Given the description of an element on the screen output the (x, y) to click on. 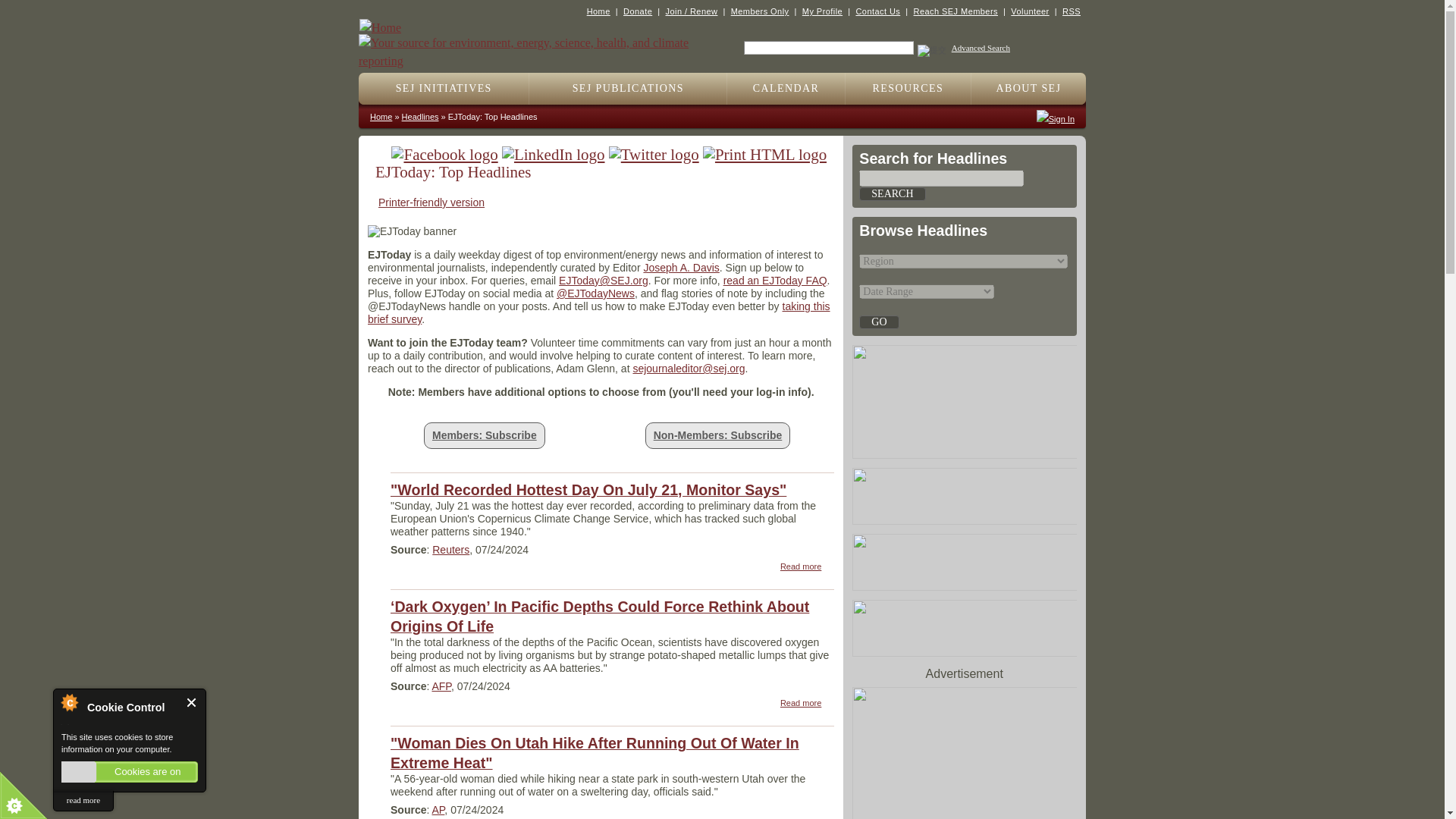
Cookies are on (129, 772)
Members Only (759, 10)
SEJ INITIATIVES (443, 88)
Volunteer (1029, 10)
SEJ PUBLICATIONS (627, 88)
Donate (637, 10)
Go (878, 322)
Enter the terms you wish to search for. (829, 47)
Home (540, 44)
Contact Us (877, 10)
